Given the description of an element on the screen output the (x, y) to click on. 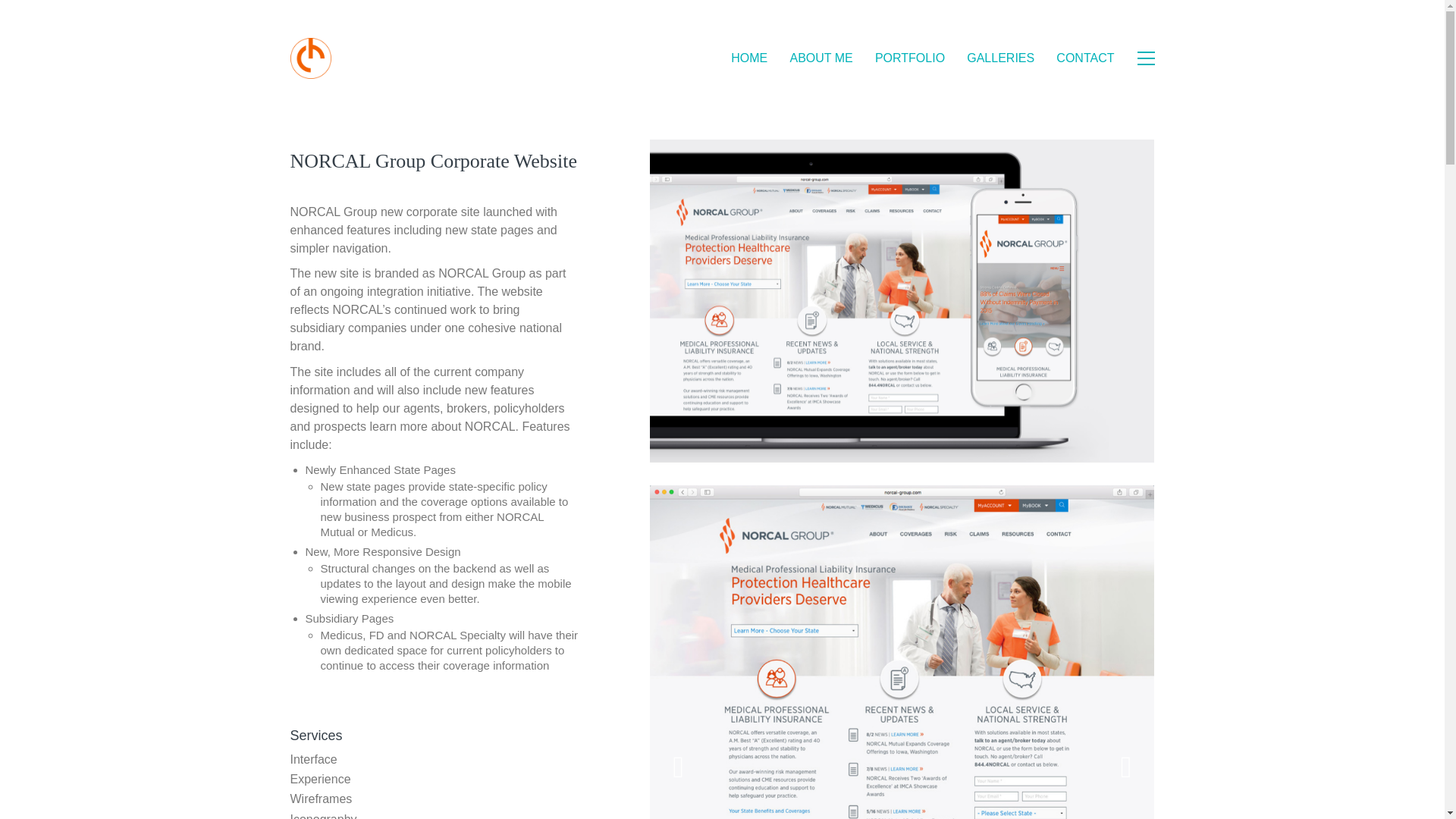
CONTACT (1085, 57)
PORTFOLIO (909, 57)
ABOUT ME (820, 57)
HOME (748, 57)
GALLERIES (999, 57)
